Given the description of an element on the screen output the (x, y) to click on. 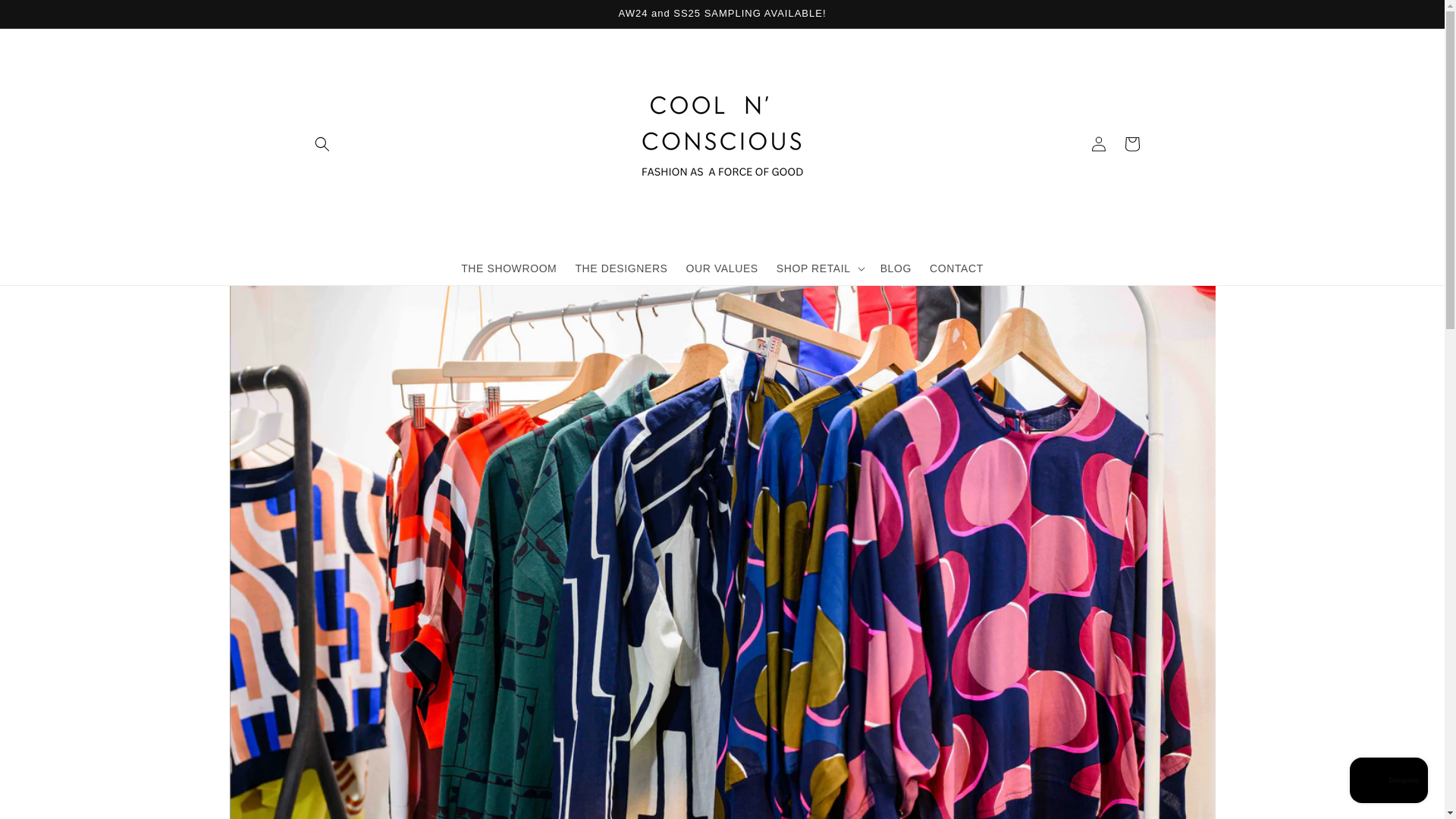
CONTACT (956, 268)
OUR VALUES (722, 268)
THE SHOWROOM (508, 268)
THE DESIGNERS (621, 268)
BLOG (895, 268)
